Given the description of an element on the screen output the (x, y) to click on. 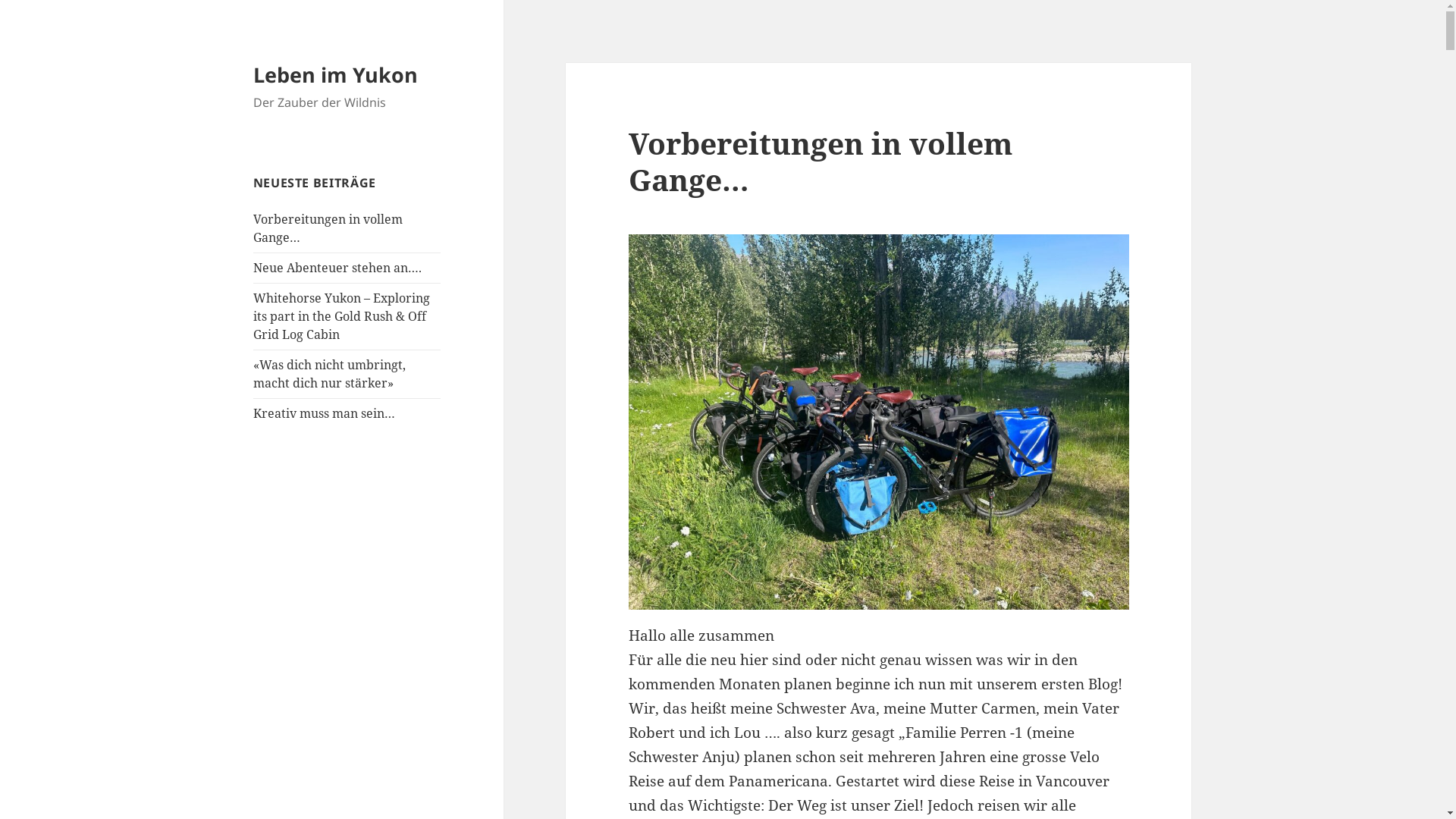
Leben im Yukon Element type: text (335, 74)
